Given the description of an element on the screen output the (x, y) to click on. 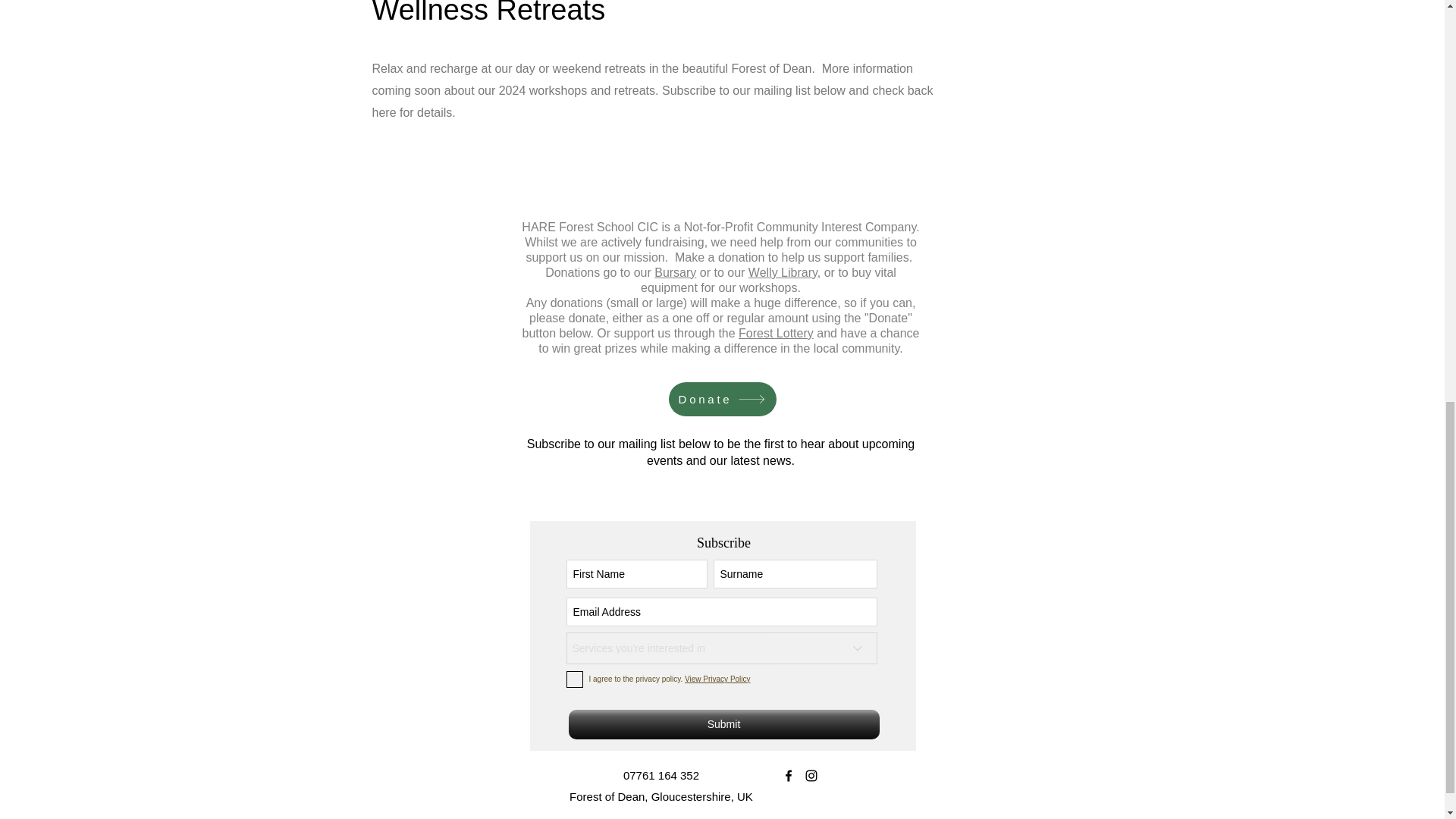
View Privacy Policy (717, 678)
Submit (724, 724)
Donate (722, 399)
Forest Lottery (775, 332)
Bursary (674, 272)
Welly Library (782, 272)
